Given the description of an element on the screen output the (x, y) to click on. 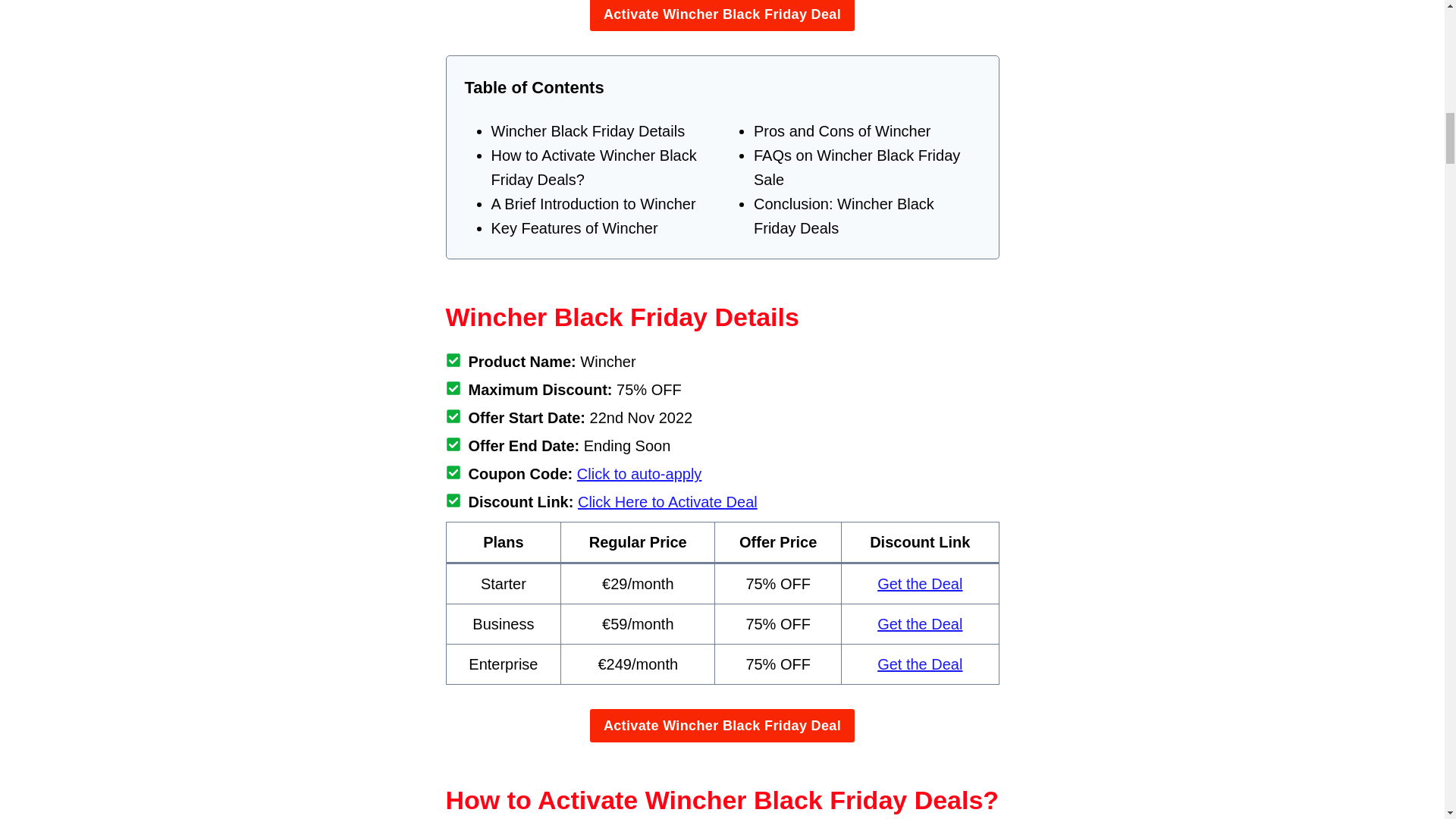
Click to auto-apply (638, 474)
How to Activate Wincher Black Friday Deals? (594, 167)
Wincher Black Friday Details (588, 130)
A Brief Introduction to Wincher (593, 203)
Activate Wincher Black Friday Deal (721, 15)
Get the Deal (919, 583)
Get the Deal (919, 664)
Pros and Cons of Wincher (842, 130)
FAQs on Wincher Black Friday Sale (856, 167)
Conclusion: Wincher Black Friday Deals (844, 215)
